Given the description of an element on the screen output the (x, y) to click on. 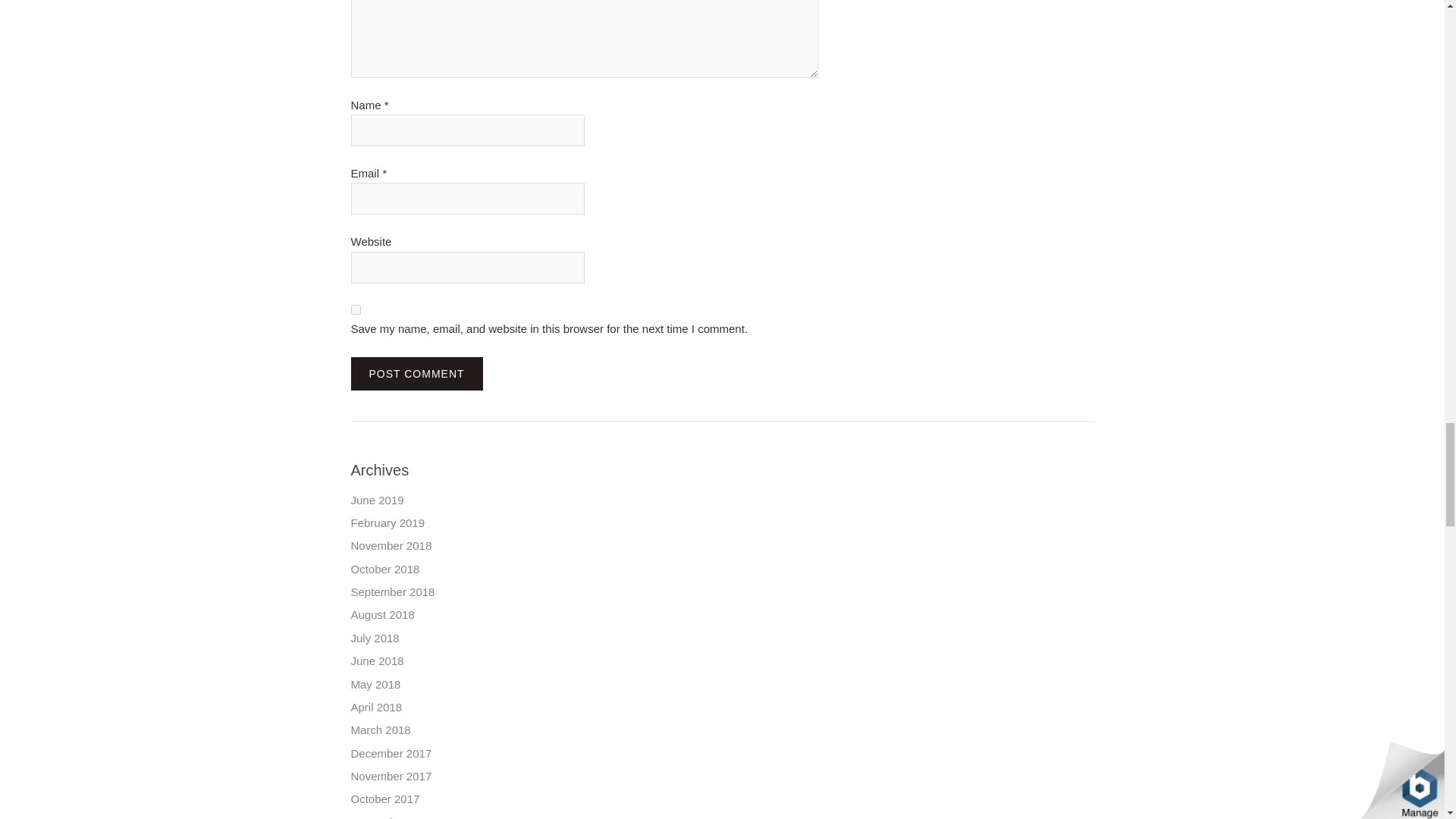
yes (354, 309)
Post Comment (415, 373)
Post Comment (415, 373)
